Given the description of an element on the screen output the (x, y) to click on. 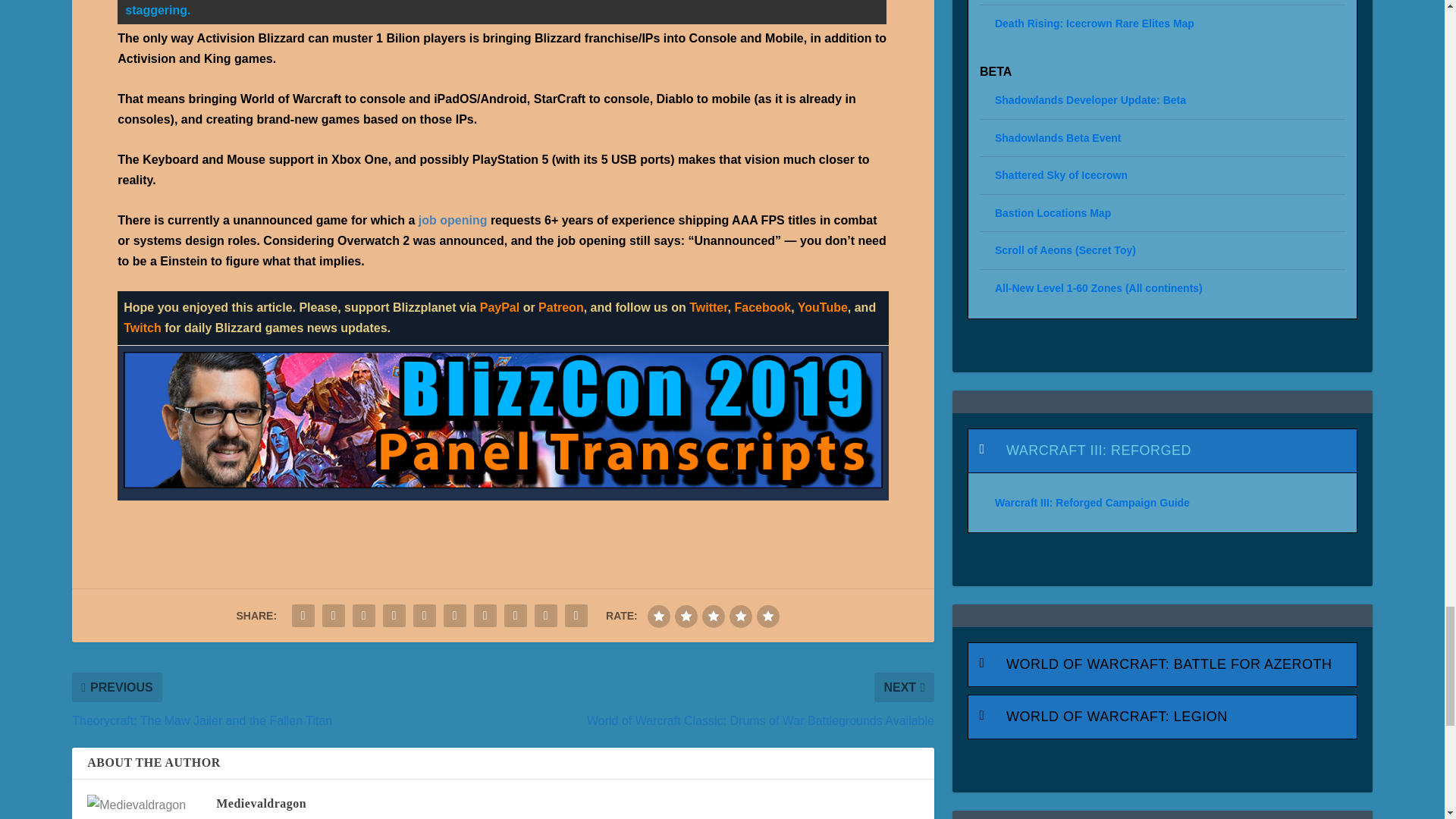
job opening (453, 219)
Patreon (560, 307)
poor (686, 616)
Twitter (707, 307)
PayPal (499, 307)
bad (658, 616)
Facebook (761, 307)
